Given the description of an element on the screen output the (x, y) to click on. 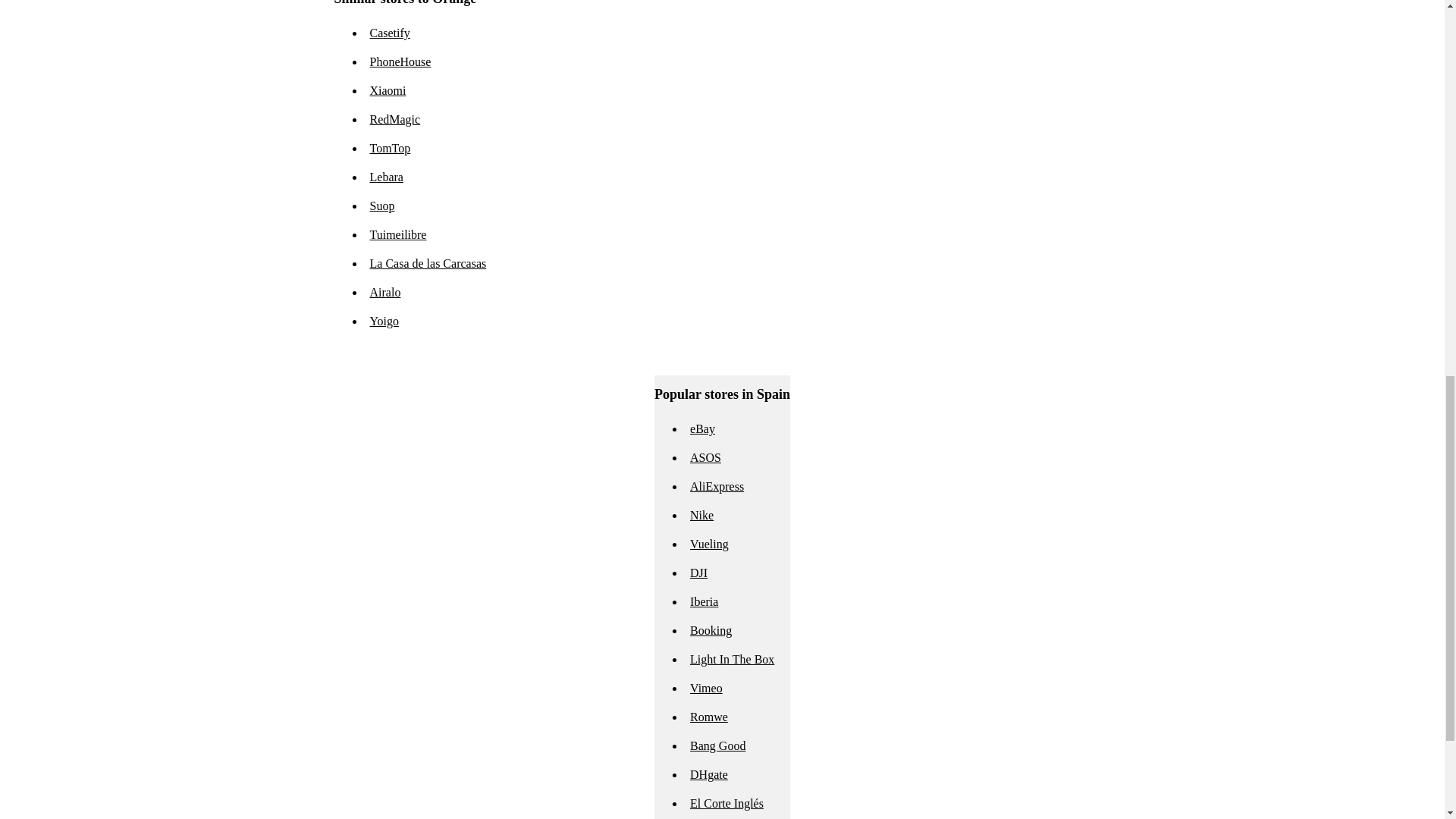
Lebara (386, 176)
Xiaomi (387, 90)
TomTop (389, 147)
La Casa de las Carcasas (427, 263)
Yoigo (383, 320)
Light In The Box (732, 658)
Nike (701, 514)
Vimeo (706, 687)
Bang Good (717, 745)
Suop (381, 205)
PhoneHouse (399, 61)
Romwe (709, 716)
DHgate (709, 774)
Tuimeilibre (397, 234)
Casetify (389, 32)
